Given the description of an element on the screen output the (x, y) to click on. 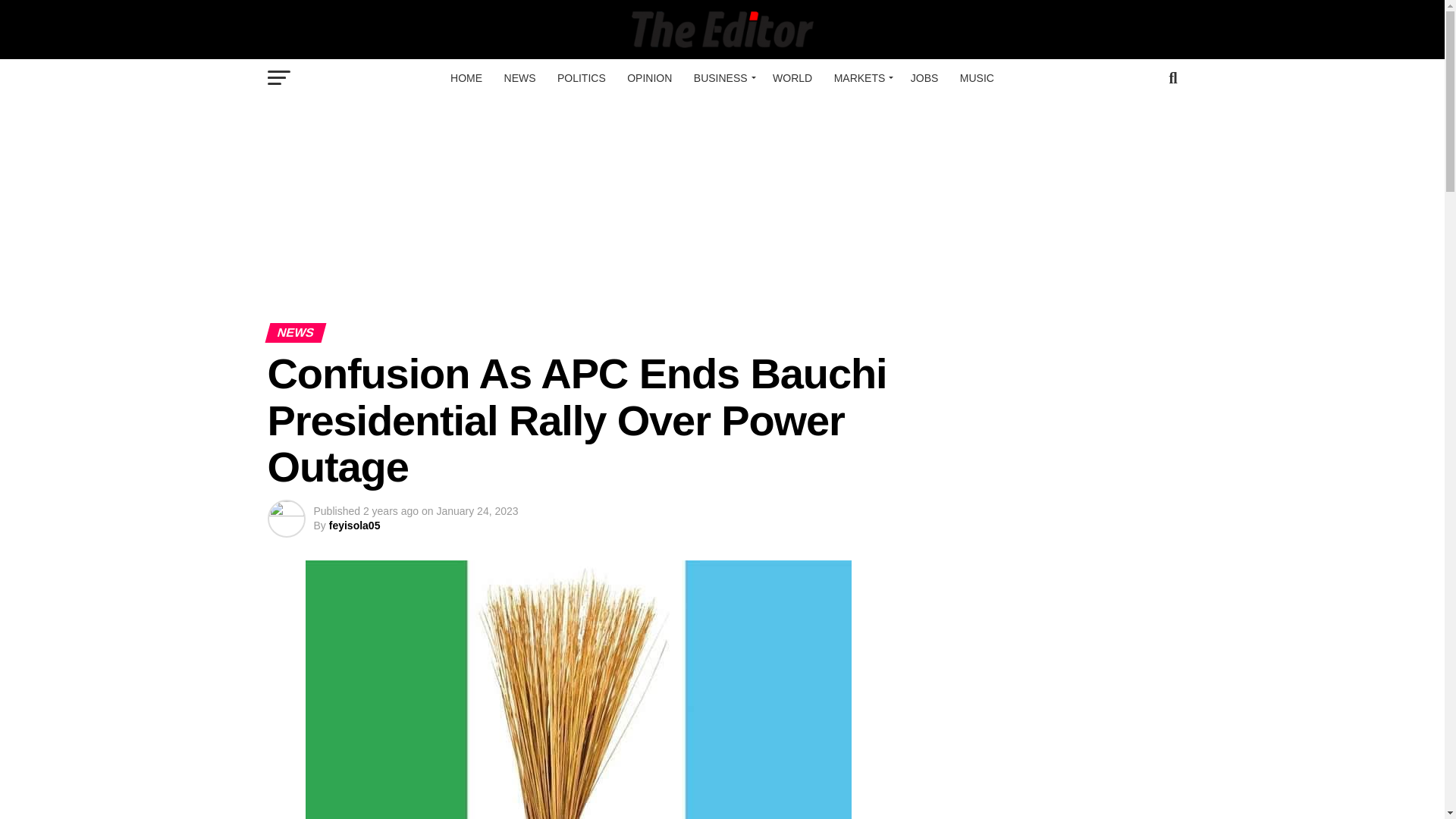
NEWS (519, 77)
HOME (466, 77)
BUSINESS (722, 77)
OPINION (649, 77)
POLITICS (581, 77)
Posts by feyisola05 (354, 525)
